Given the description of an element on the screen output the (x, y) to click on. 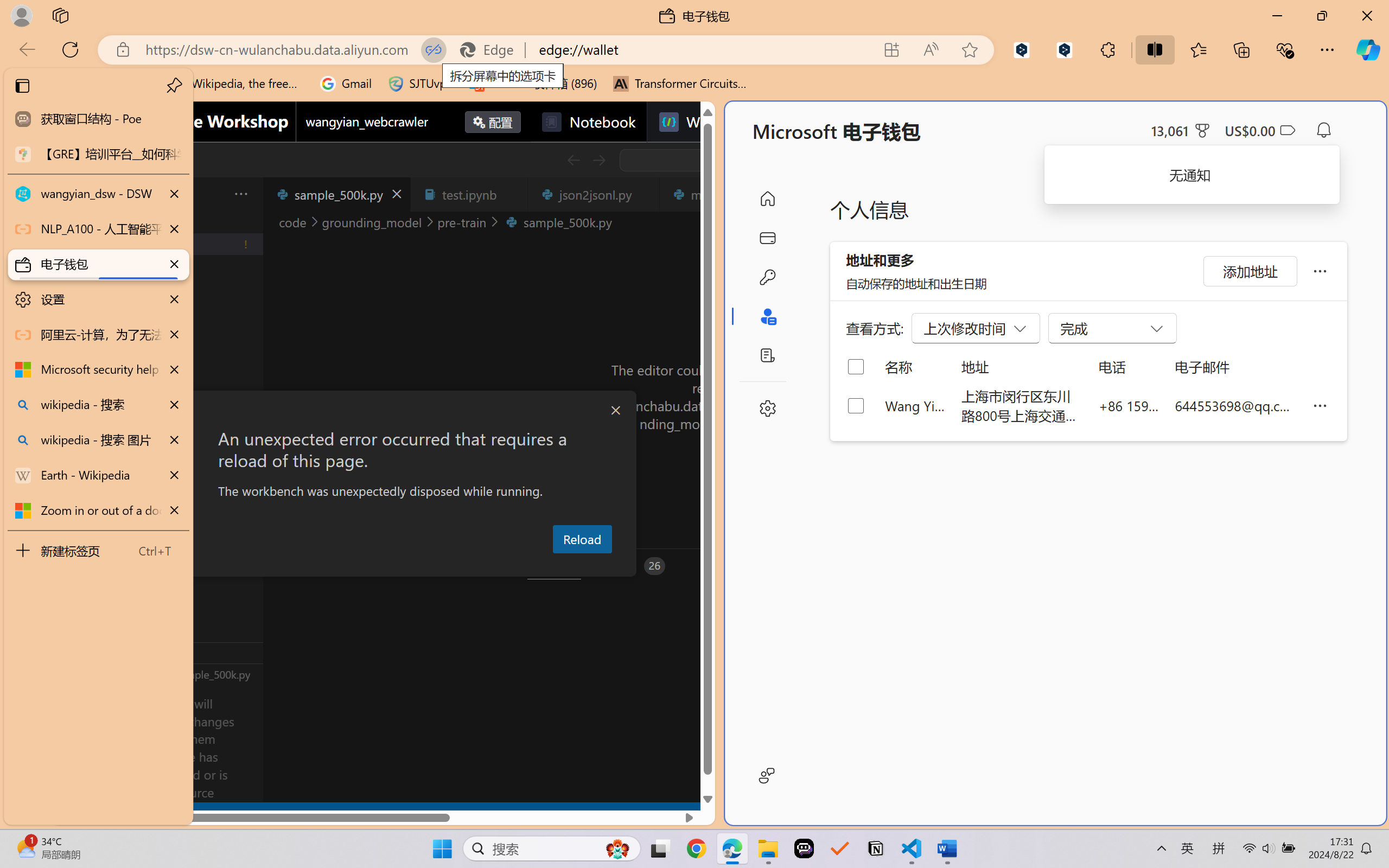
test.ipynb (468, 194)
Edge (492, 49)
Application Menu (73, 194)
